Given the description of an element on the screen output the (x, y) to click on. 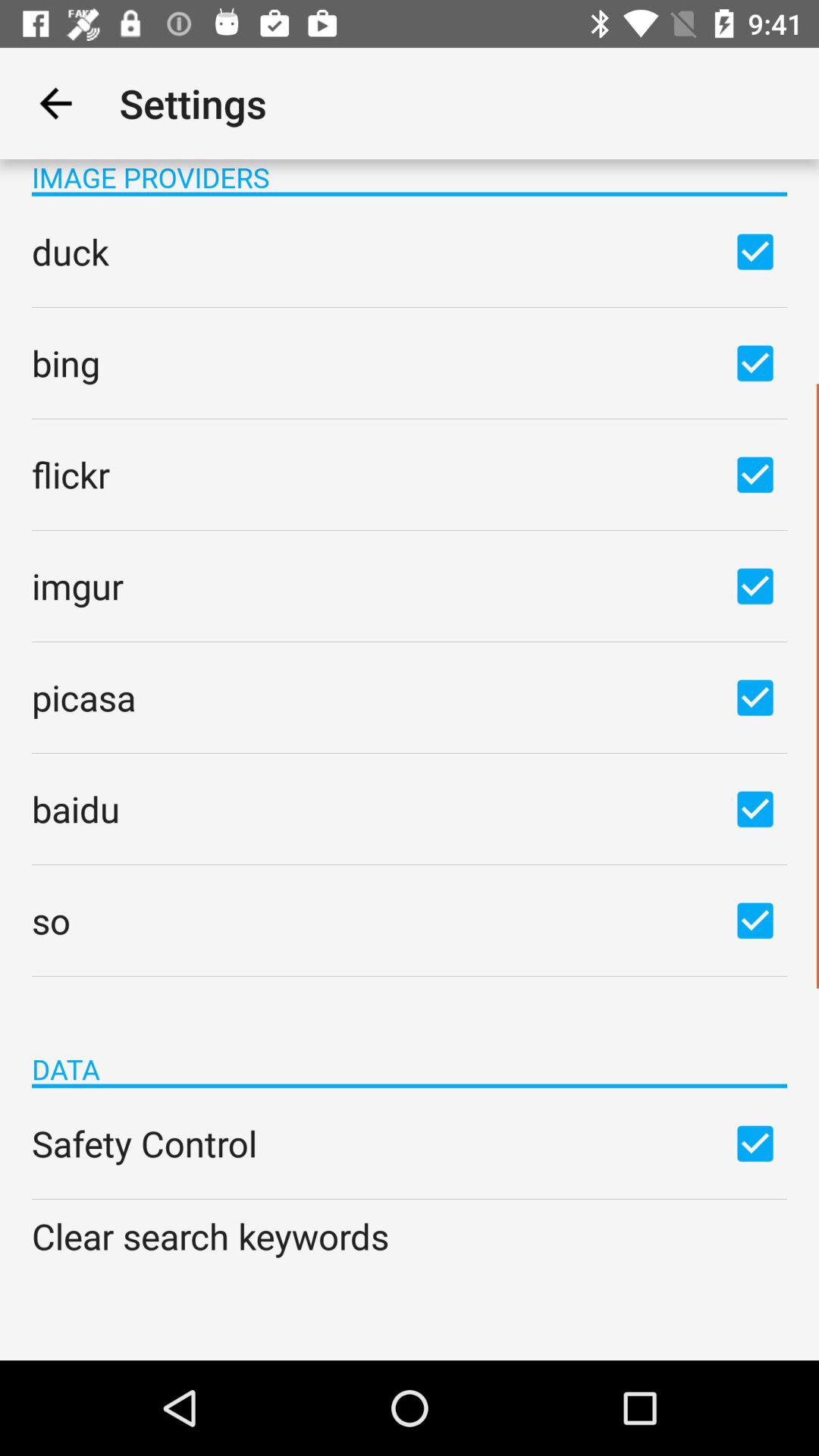
activate or deactivate safety control (755, 1143)
